Given the description of an element on the screen output the (x, y) to click on. 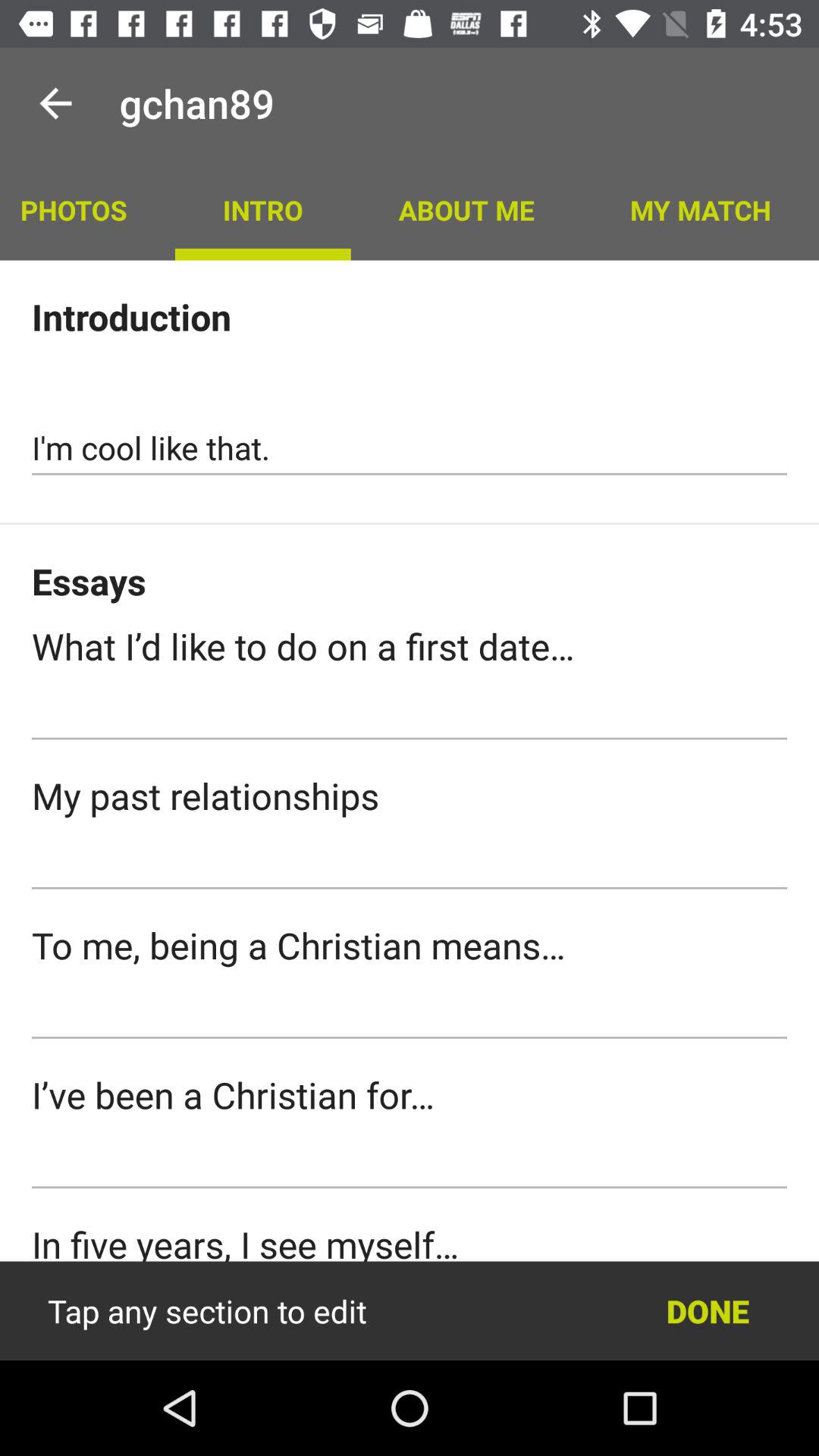
type answer (409, 712)
